Given the description of an element on the screen output the (x, y) to click on. 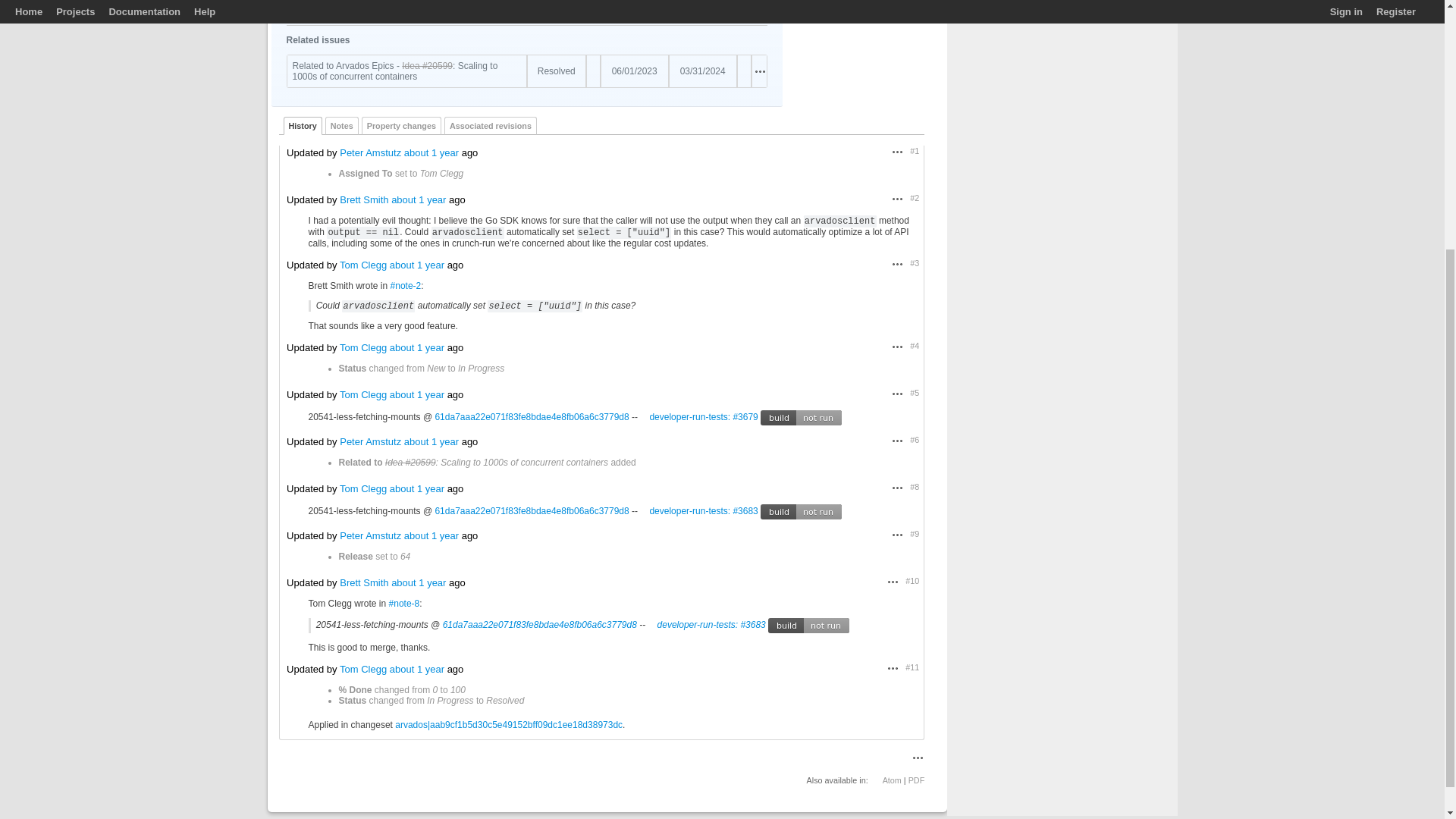
Actions (897, 151)
Actions (897, 346)
Actions (897, 198)
History (302, 126)
Tom Clegg (620, 9)
Actions (760, 70)
Actions (760, 9)
Actions (760, 70)
Actions (760, 9)
Actions (897, 263)
